Given the description of an element on the screen output the (x, y) to click on. 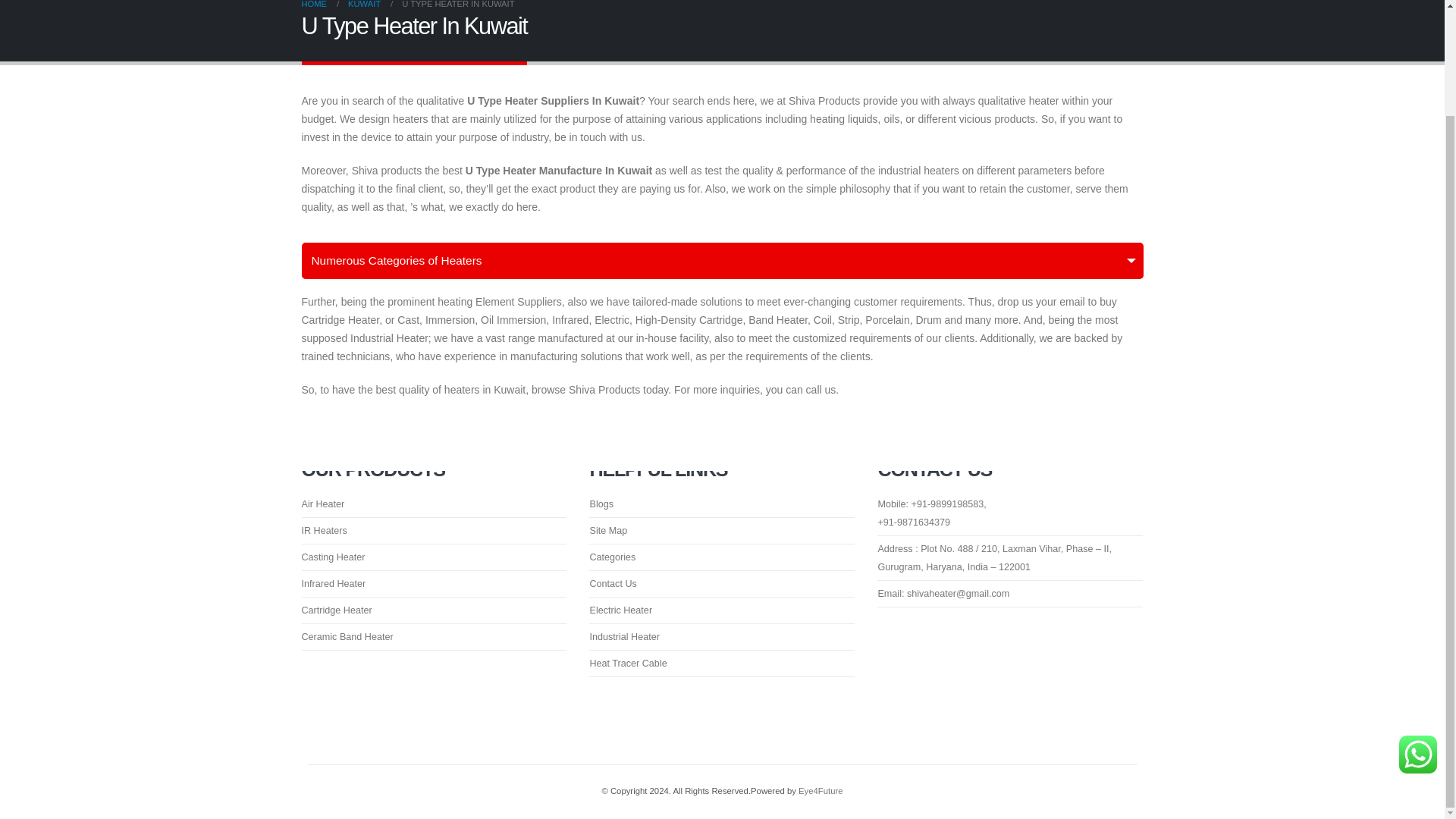
Team (943, 593)
Team (994, 557)
Team (931, 503)
Team (913, 521)
Go to Home Page (314, 6)
WhatsApp us (1418, 754)
